Given the description of an element on the screen output the (x, y) to click on. 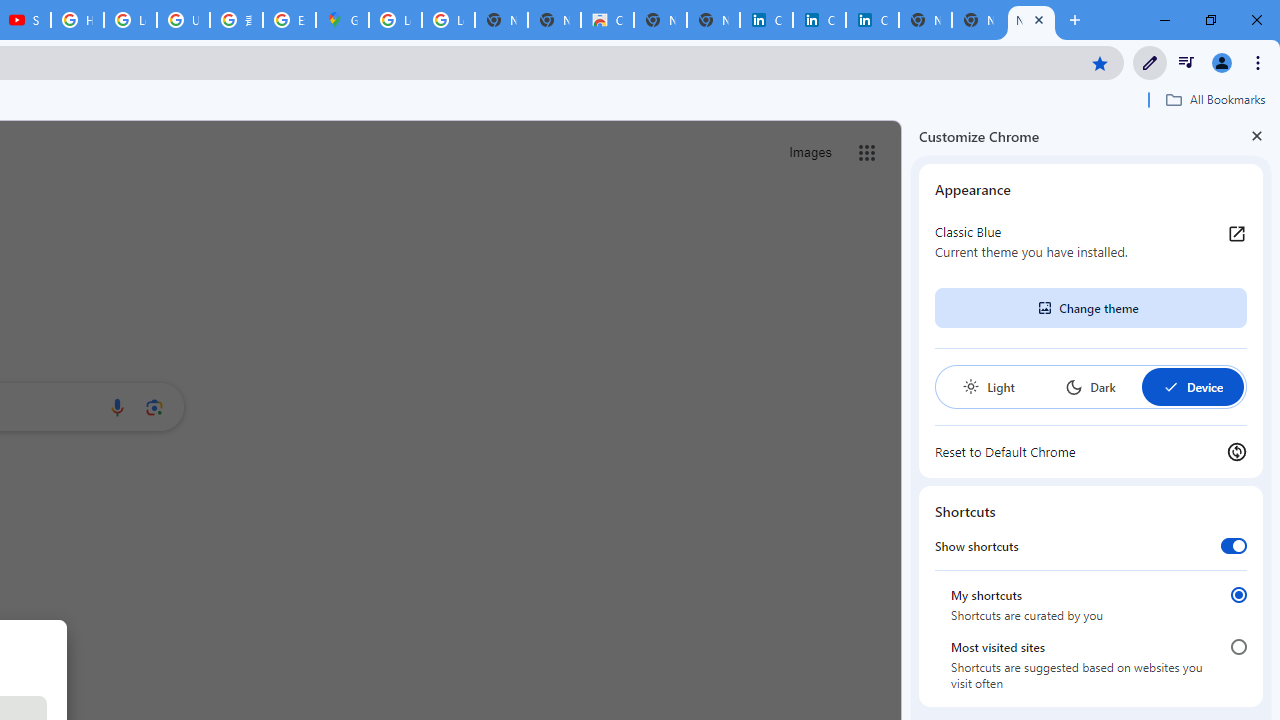
Cookie Policy | LinkedIn (819, 20)
Device (1192, 386)
Classic Blue Current theme you have installed. (1091, 241)
Change theme (1090, 308)
Chrome Web Store (607, 20)
Show shortcuts (1233, 545)
Explore new street-level details - Google Maps Help (289, 20)
AutomationID: baseSvg (1170, 386)
Copyright Policy (872, 20)
How Chrome protects your passwords - Google Chrome Help (77, 20)
